Given the description of an element on the screen output the (x, y) to click on. 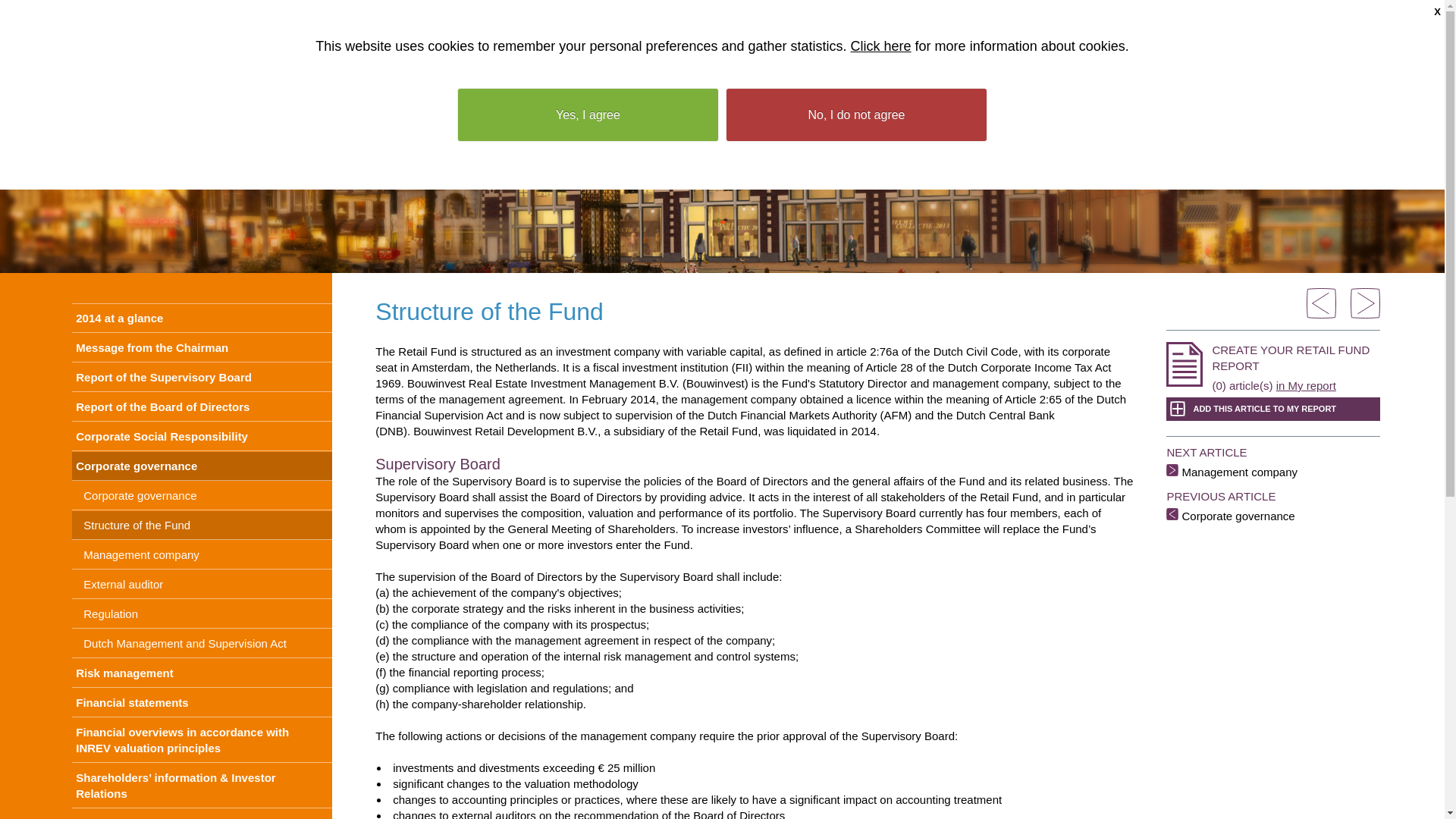
2014 at a  glance (201, 317)
Home (1051, 14)
Report of the Board of Directors (201, 407)
Message from the Chairman (201, 347)
Corporate governance (201, 466)
2014 at a glance (201, 317)
Regulation (201, 613)
External auditor (201, 584)
Structure of the Fund (201, 377)
